Given the description of an element on the screen output the (x, y) to click on. 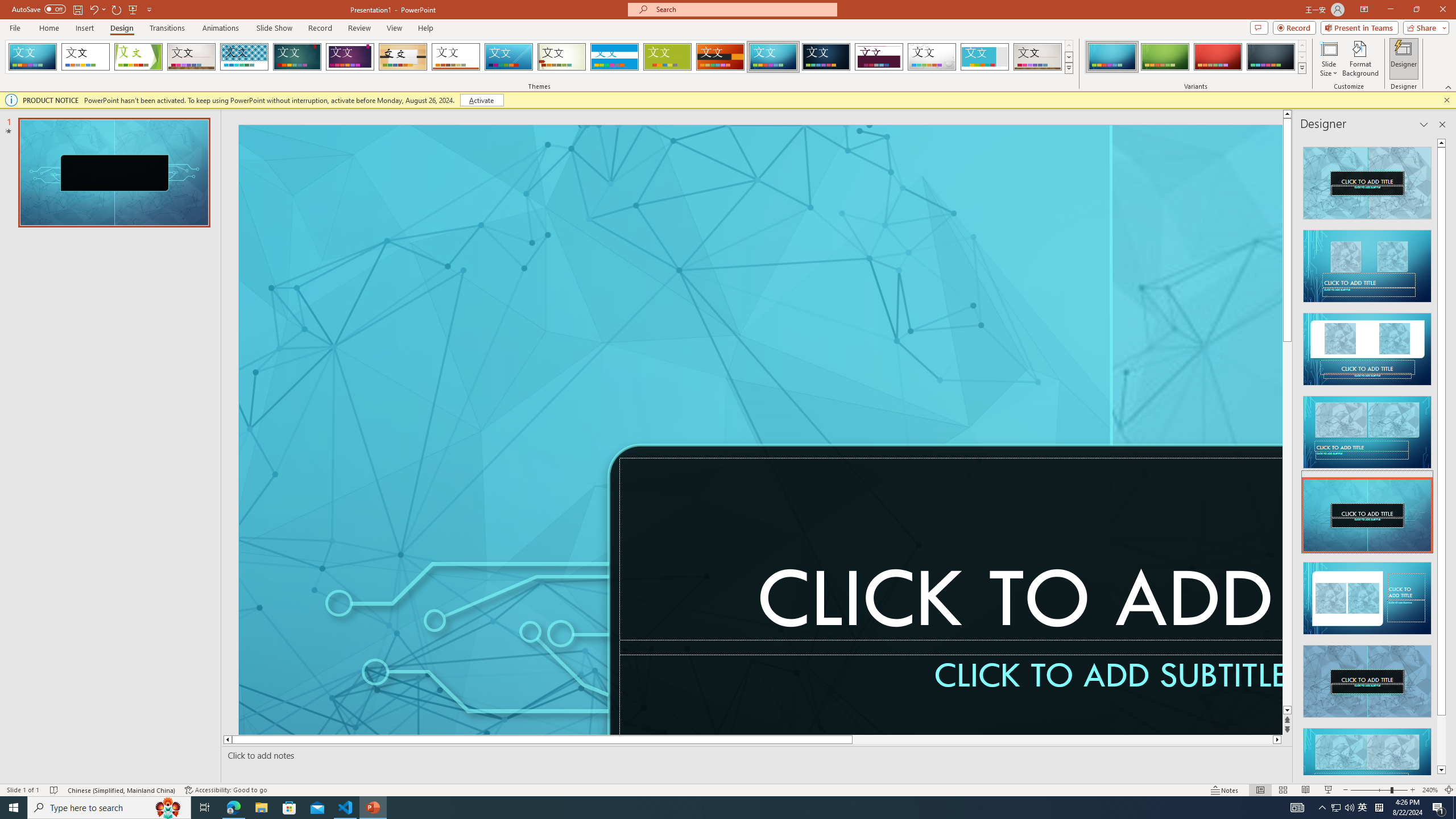
Decorative (594, 637)
FadeVTI (32, 56)
Decorative Locked (1110, 286)
Ion Boardroom (350, 56)
Wisp (561, 56)
AutomationID: ThemeVariantsGallery (1195, 56)
Recommended Design: Design Idea (1366, 179)
Subtitle TextBox (950, 686)
